Given the description of an element on the screen output the (x, y) to click on. 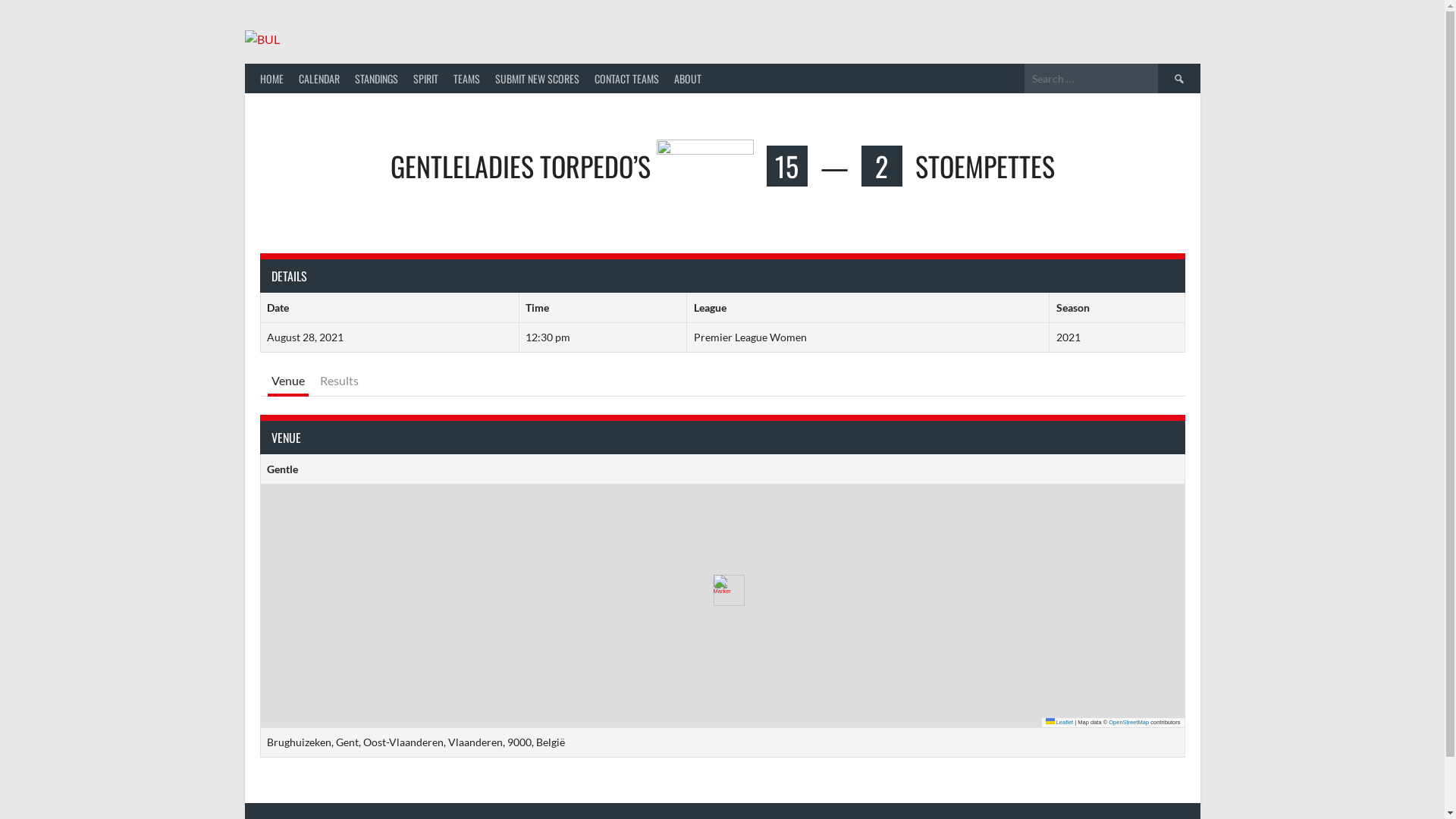
OpenStreetMap Element type: text (1128, 721)
ABOUT Element type: text (686, 78)
Results Element type: text (338, 381)
Venue Element type: text (286, 381)
STOEMPETTES Element type: text (984, 165)
SUBMIT NEW SCORES Element type: text (536, 78)
STANDINGS Element type: text (376, 78)
TEAMS Element type: text (466, 78)
HOME Element type: text (270, 78)
SPIRIT Element type: text (424, 78)
Leaflet Element type: text (1059, 721)
CALENDAR Element type: text (319, 78)
CONTACT TEAMS Element type: text (626, 78)
Search Element type: hover (1178, 78)
